Given the description of an element on the screen output the (x, y) to click on. 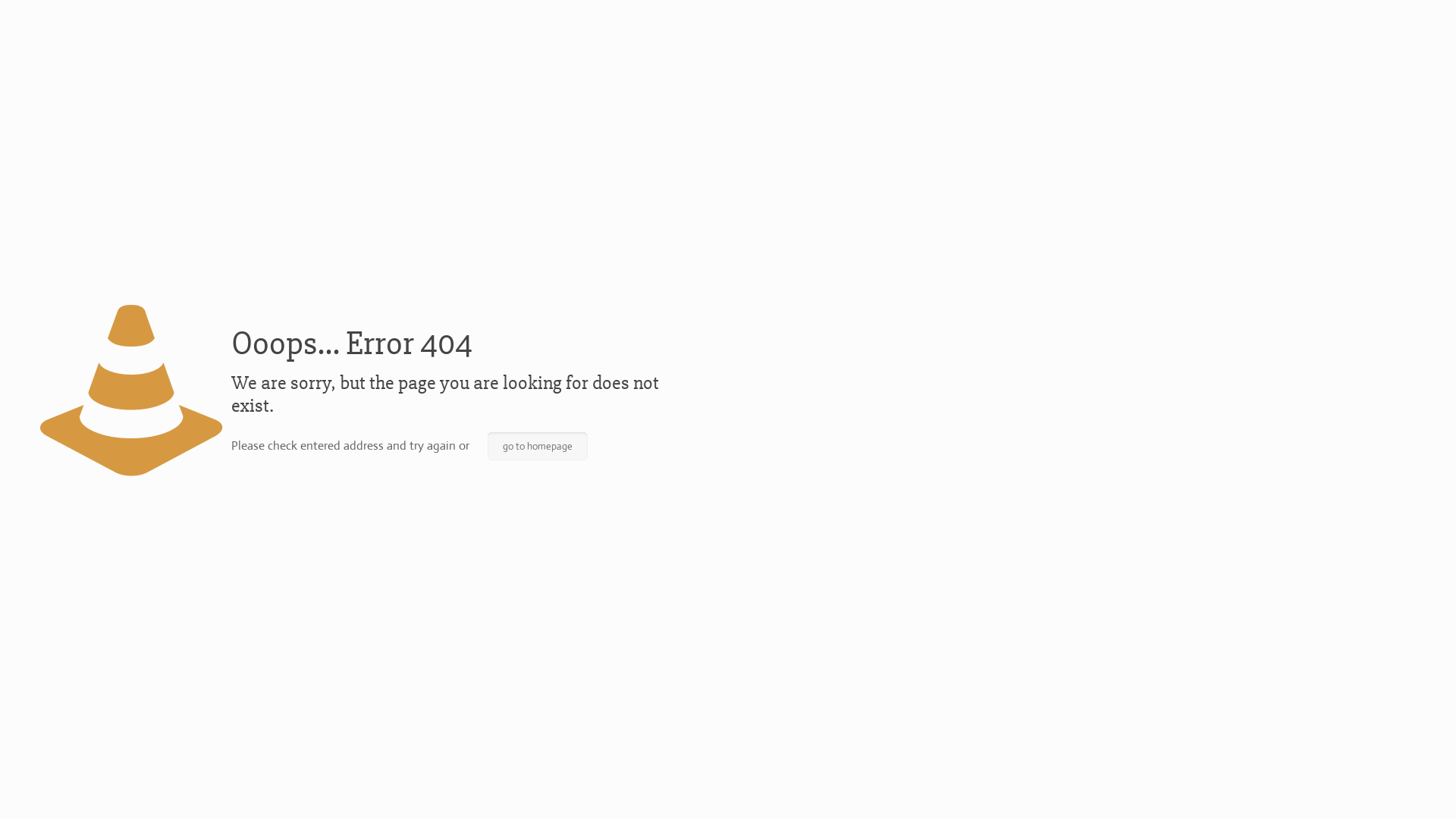
go to homepage Element type: text (536, 446)
